Given the description of an element on the screen output the (x, y) to click on. 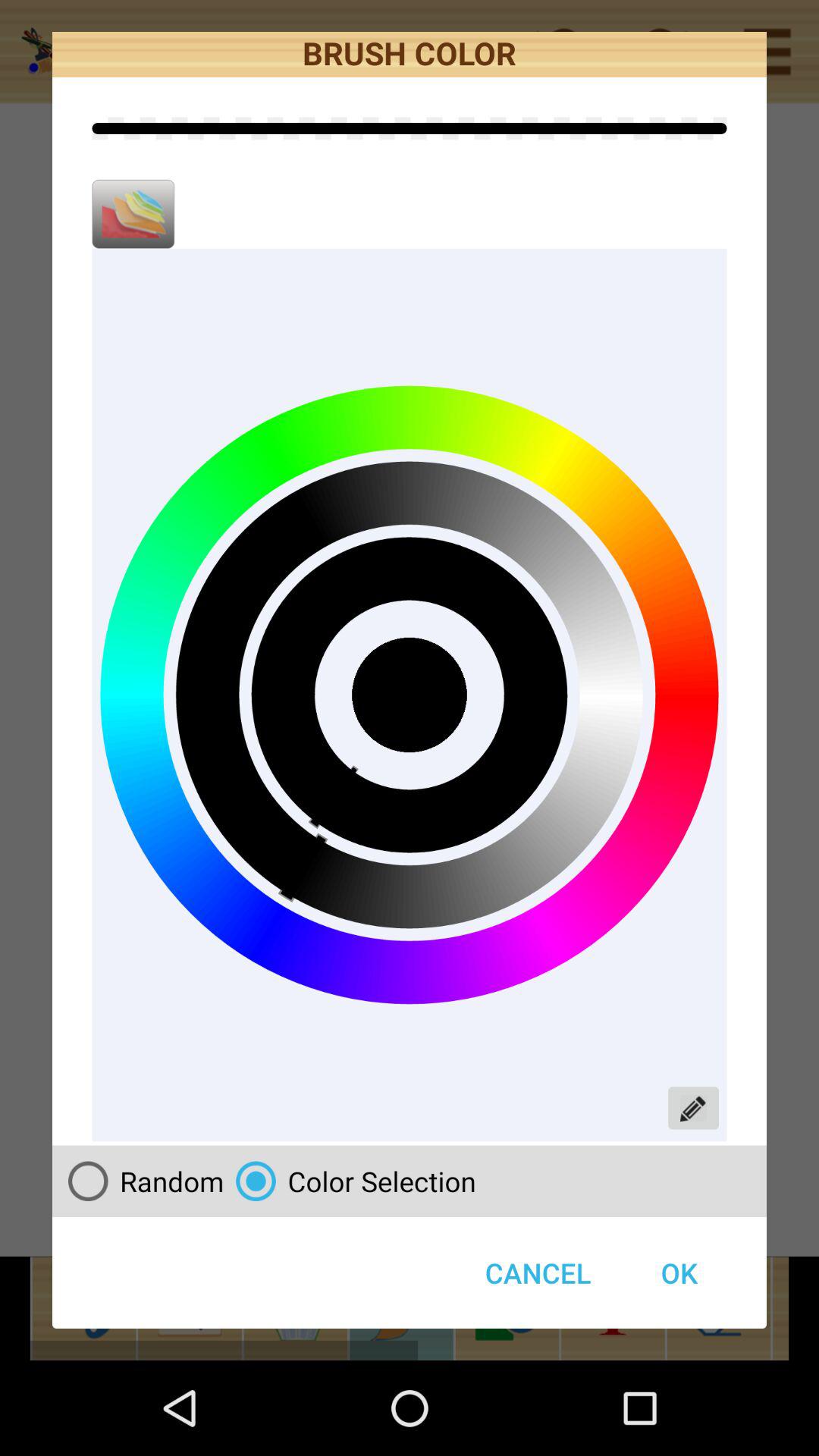
choose the icon to the right of random item (350, 1181)
